Given the description of an element on the screen output the (x, y) to click on. 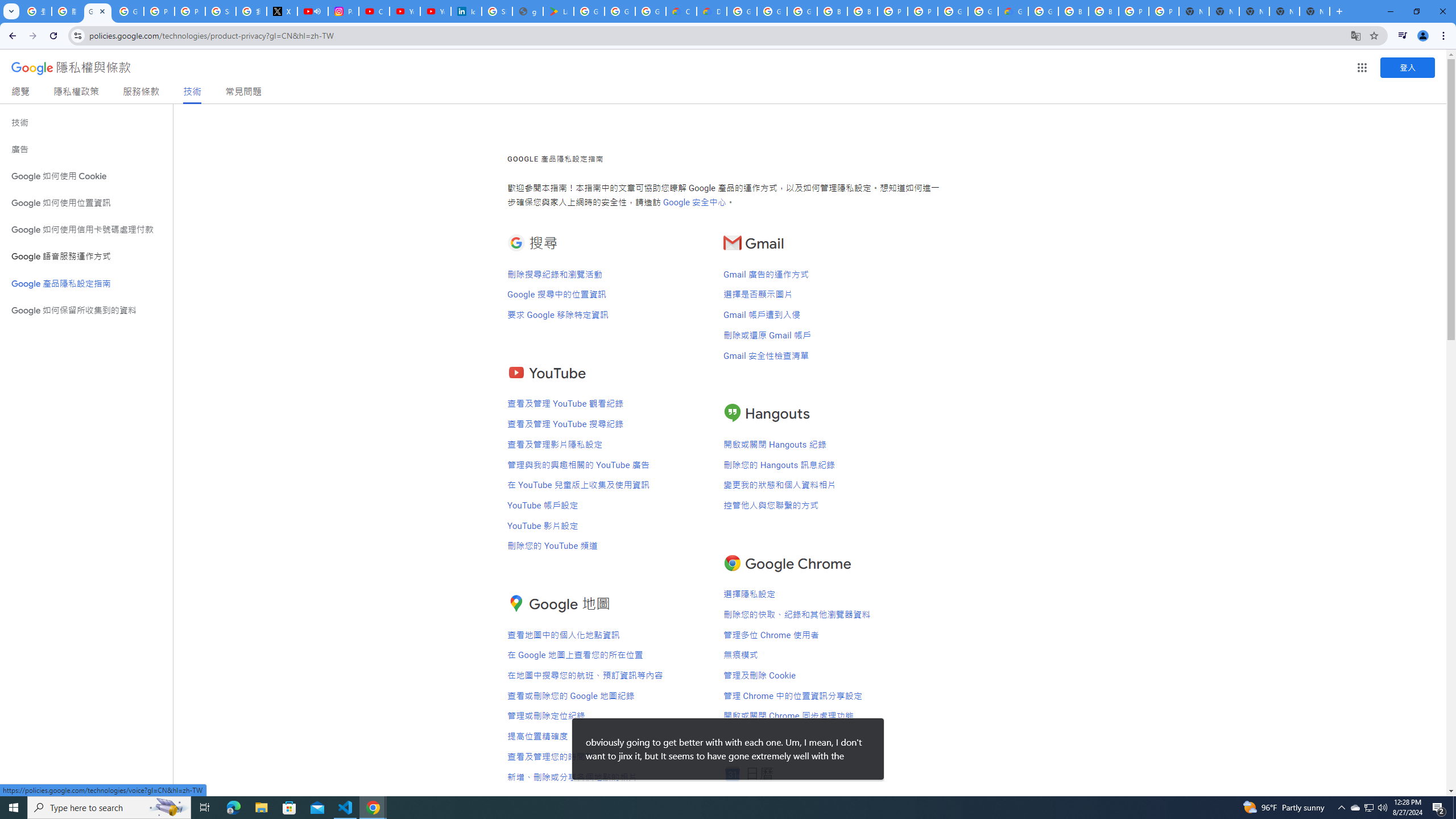
Google Cloud Platform (952, 11)
